Given the description of an element on the screen output the (x, y) to click on. 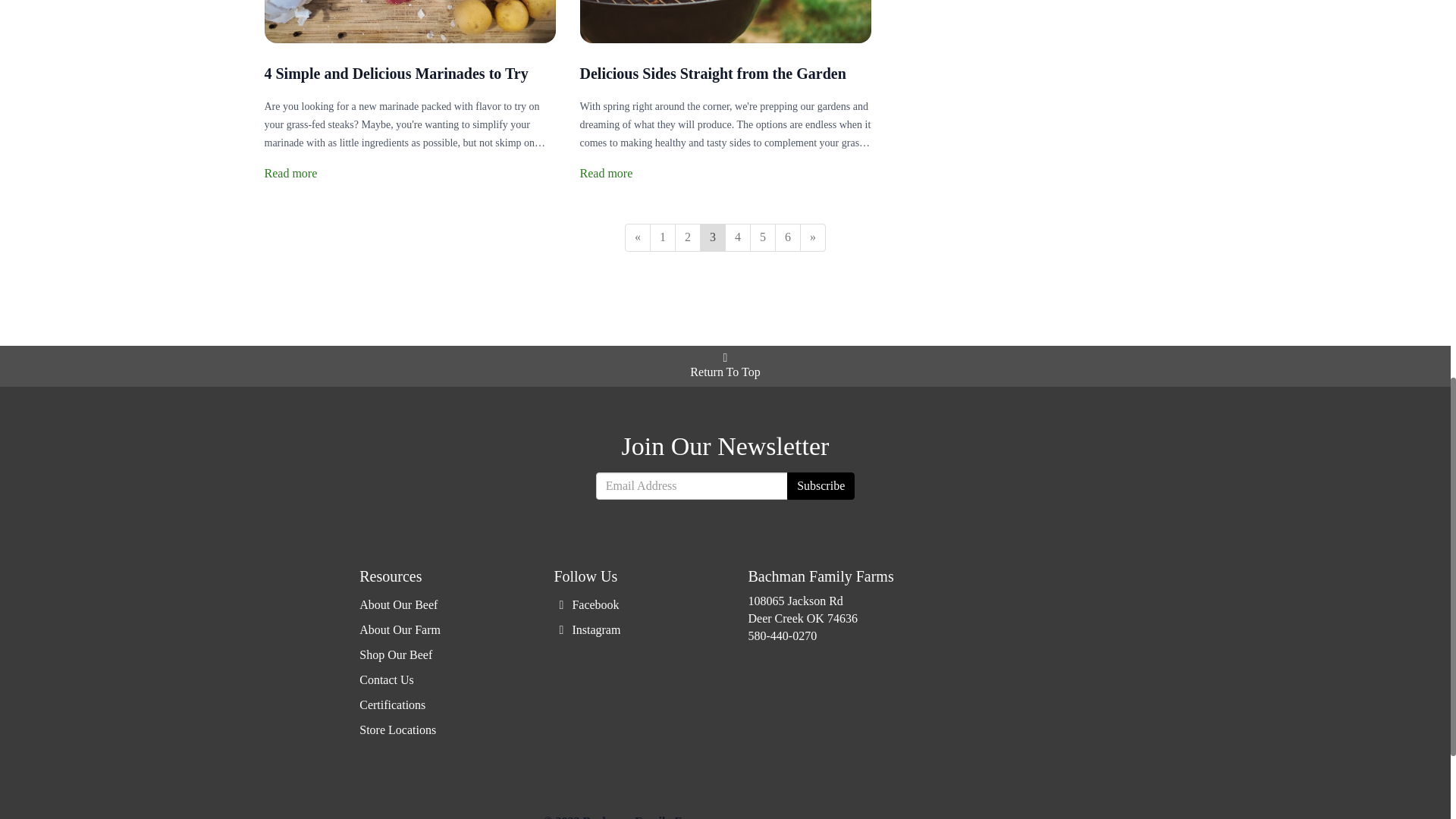
Read more (290, 173)
Read more (605, 173)
4 Simple and Delicious Marinades to Try (395, 73)
Delicious Sides Straight from the Garden (712, 73)
